Given the description of an element on the screen output the (x, y) to click on. 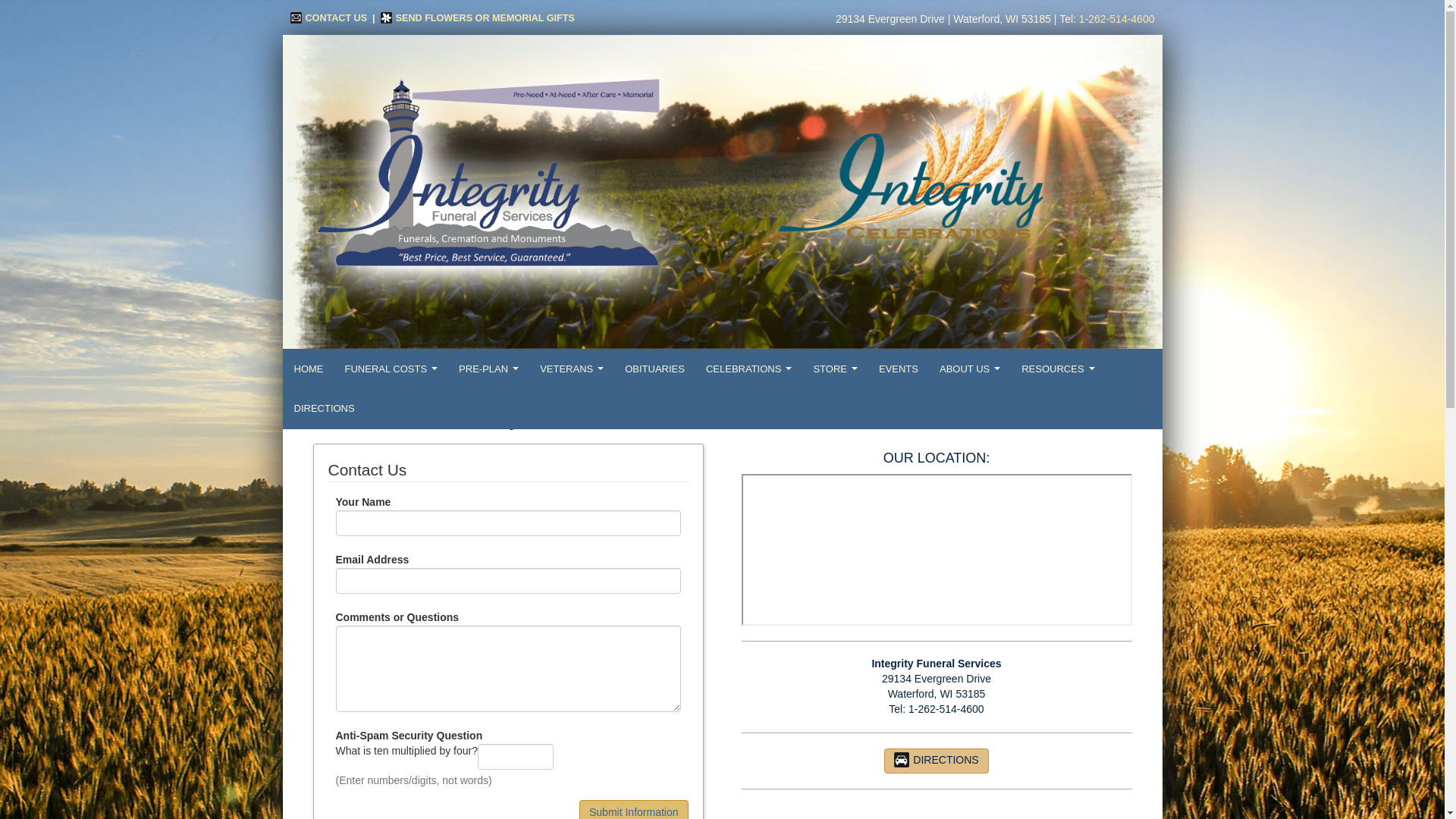
OBITUARIES (654, 369)
EVENTS (897, 369)
VETERANS... (571, 369)
SEND FLOWERS OR MEMORIAL GIFTS (477, 18)
Contact Us (327, 18)
CONTACT US (327, 18)
STORE... (834, 369)
PRE-PLAN... (488, 369)
ABOUT US... (969, 369)
HOME (308, 369)
